Given the description of an element on the screen output the (x, y) to click on. 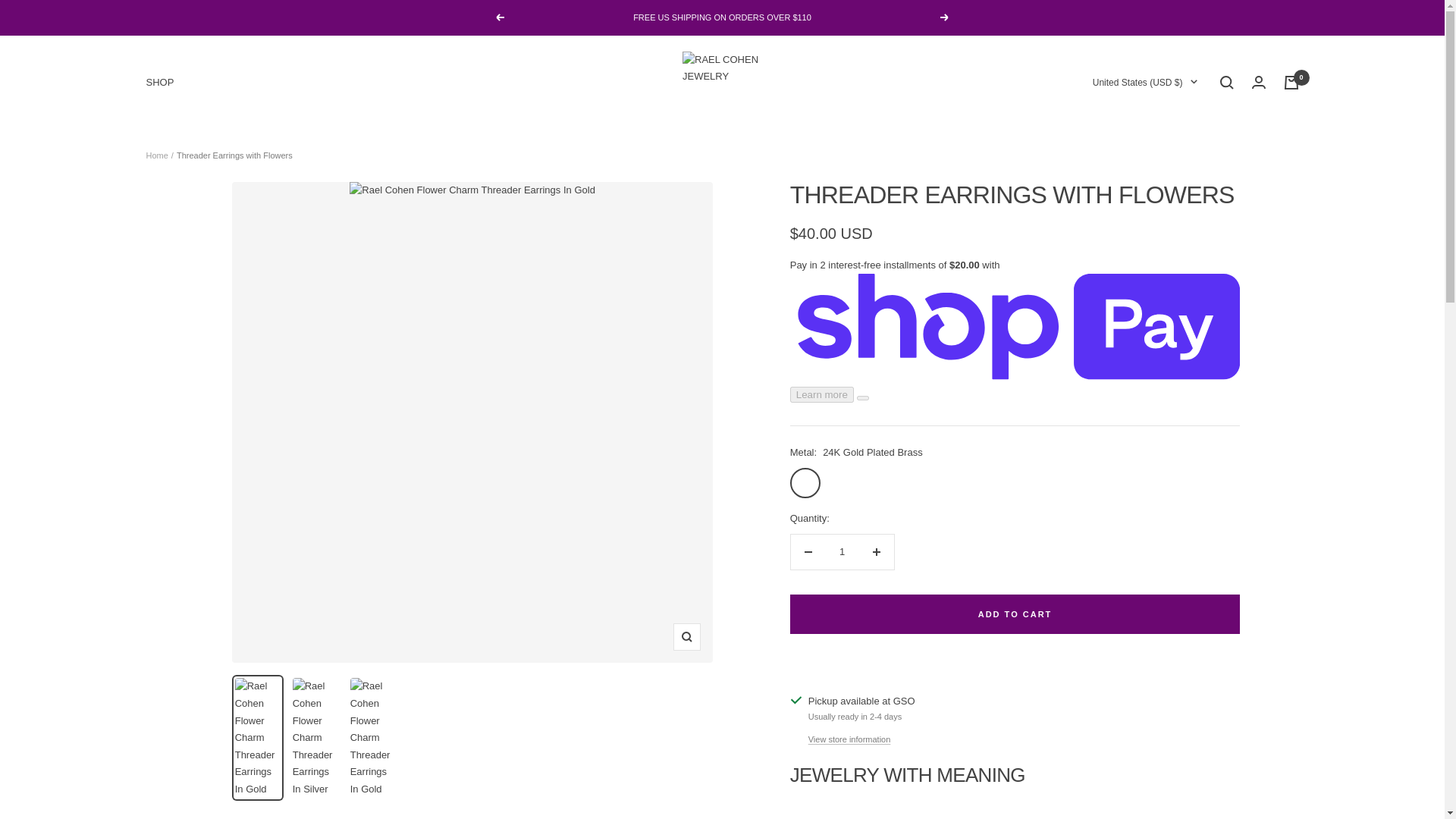
AM (1062, 334)
BM (1062, 647)
AI (1062, 266)
BB (1062, 535)
BE (1062, 579)
BJ (1062, 624)
1 (842, 551)
AG (1062, 289)
BS (1062, 467)
AU (1062, 400)
DZ (1062, 199)
BY (1062, 557)
AF (1062, 131)
AT (1062, 423)
